Given the description of an element on the screen output the (x, y) to click on. 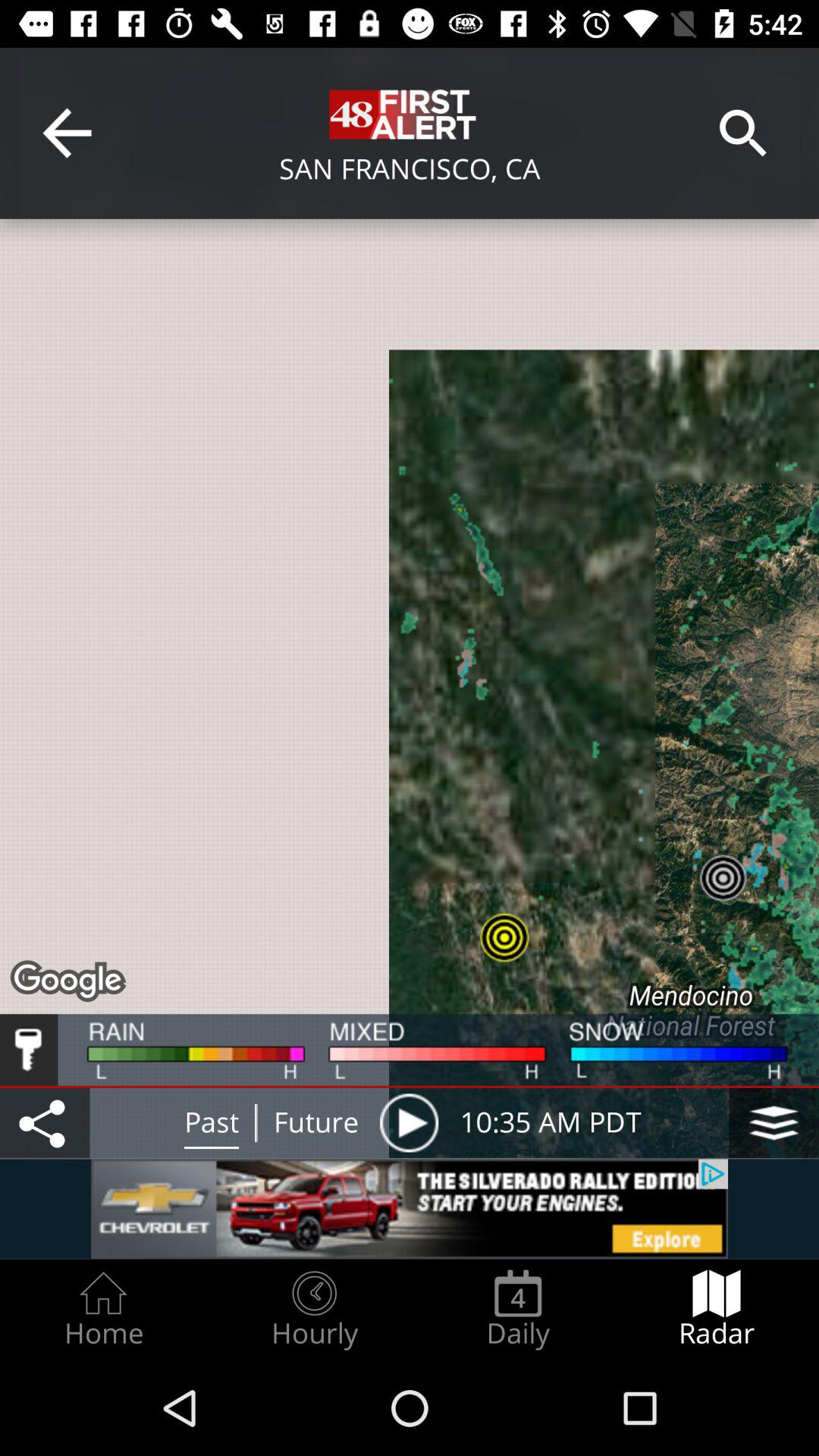
choose the daily item (518, 1309)
